Given the description of an element on the screen output the (x, y) to click on. 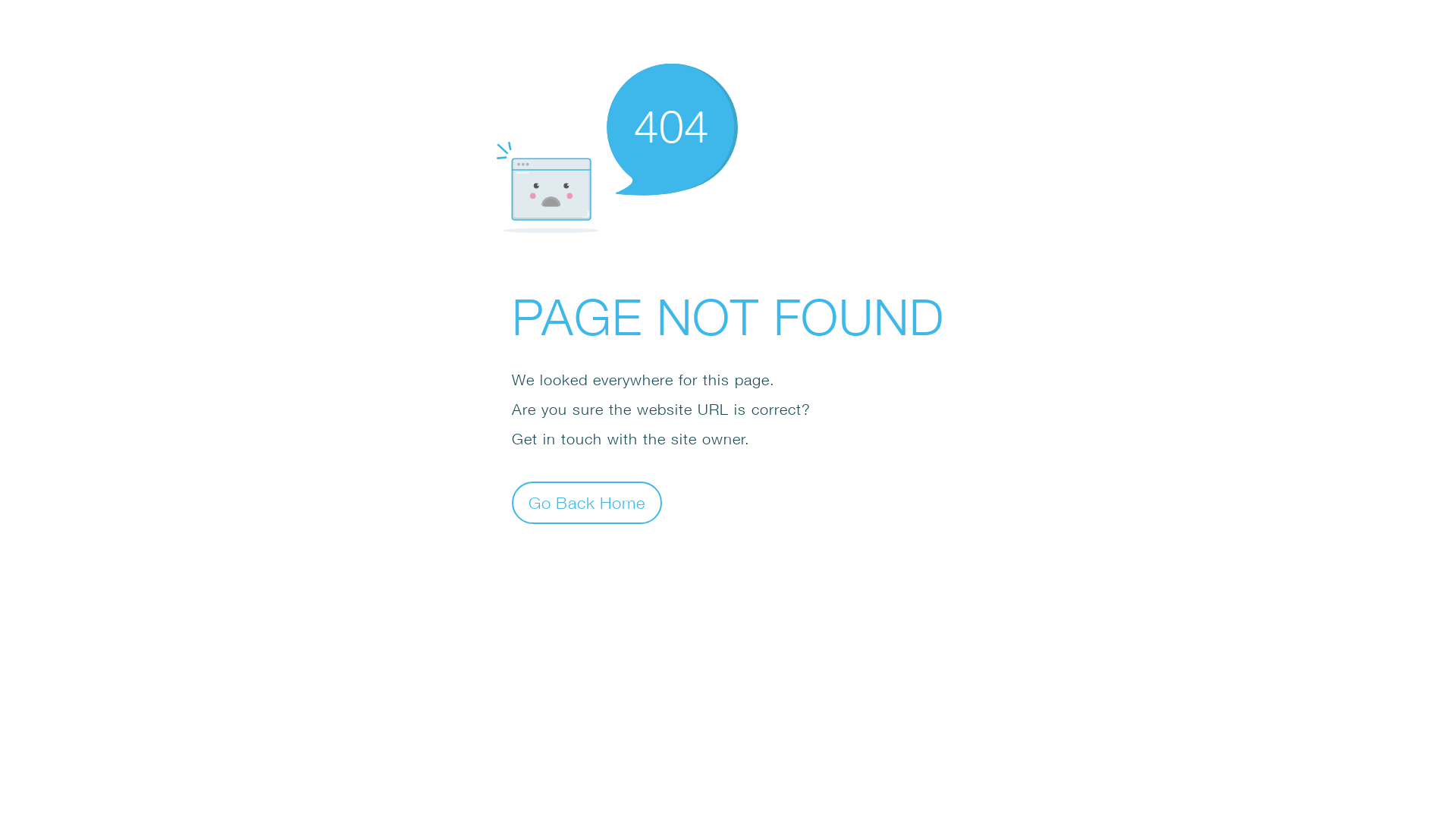
Go Back Home Element type: text (586, 502)
